Given the description of an element on the screen output the (x, y) to click on. 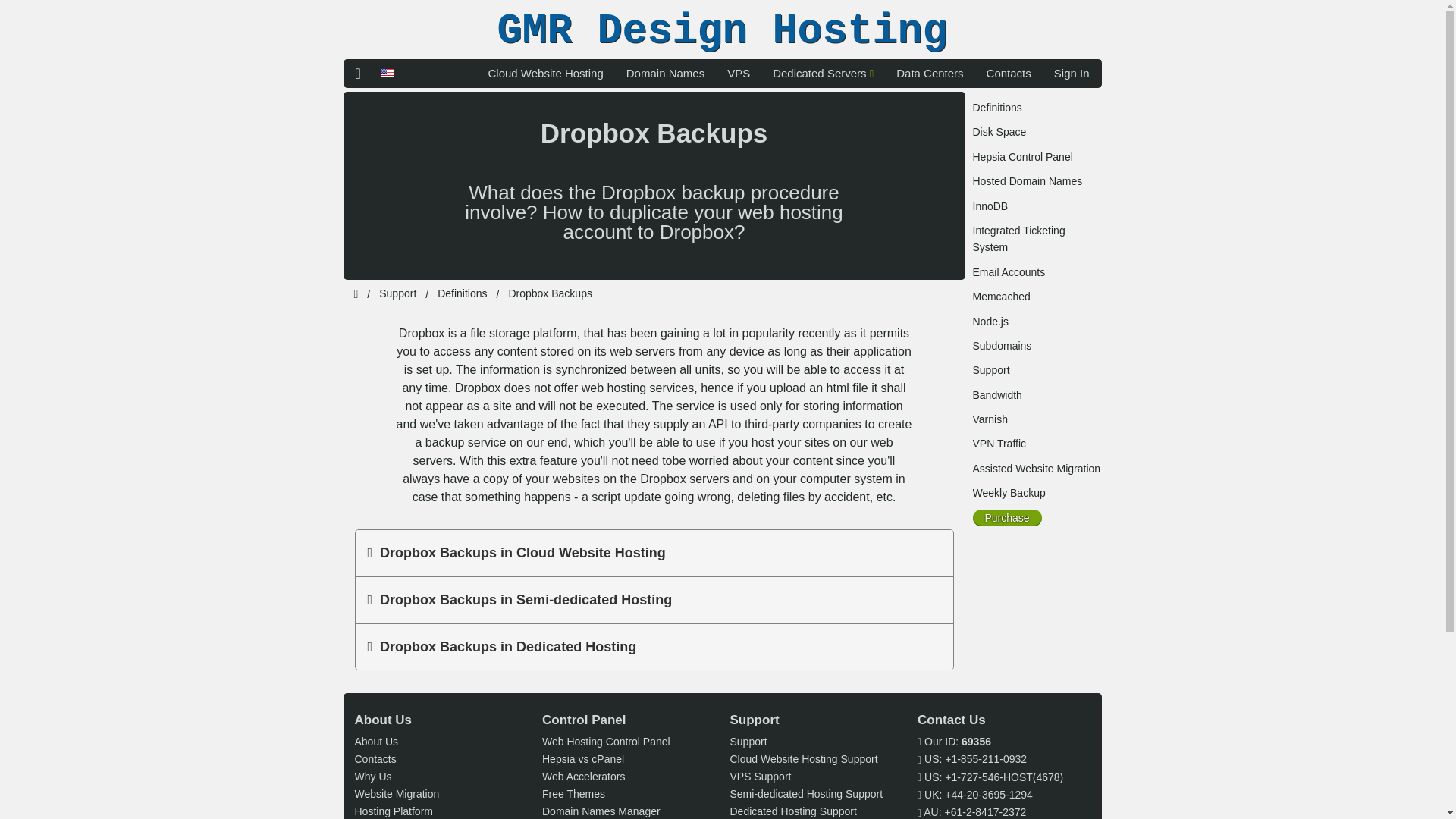
Node.js (989, 321)
VPN Traffic (999, 443)
Disk Space (999, 132)
Support (397, 293)
GMR Design Hosting (721, 32)
Hepsia Control Panel (1021, 156)
VPS (738, 72)
Weekly Backup (1008, 492)
InnoDB (989, 205)
Assisted Website Migration (1036, 468)
Cloud Website Hosting (545, 72)
Support (990, 369)
Dedicated Servers (823, 72)
Bandwidth (997, 395)
Sign In (1071, 72)
